Given the description of an element on the screen output the (x, y) to click on. 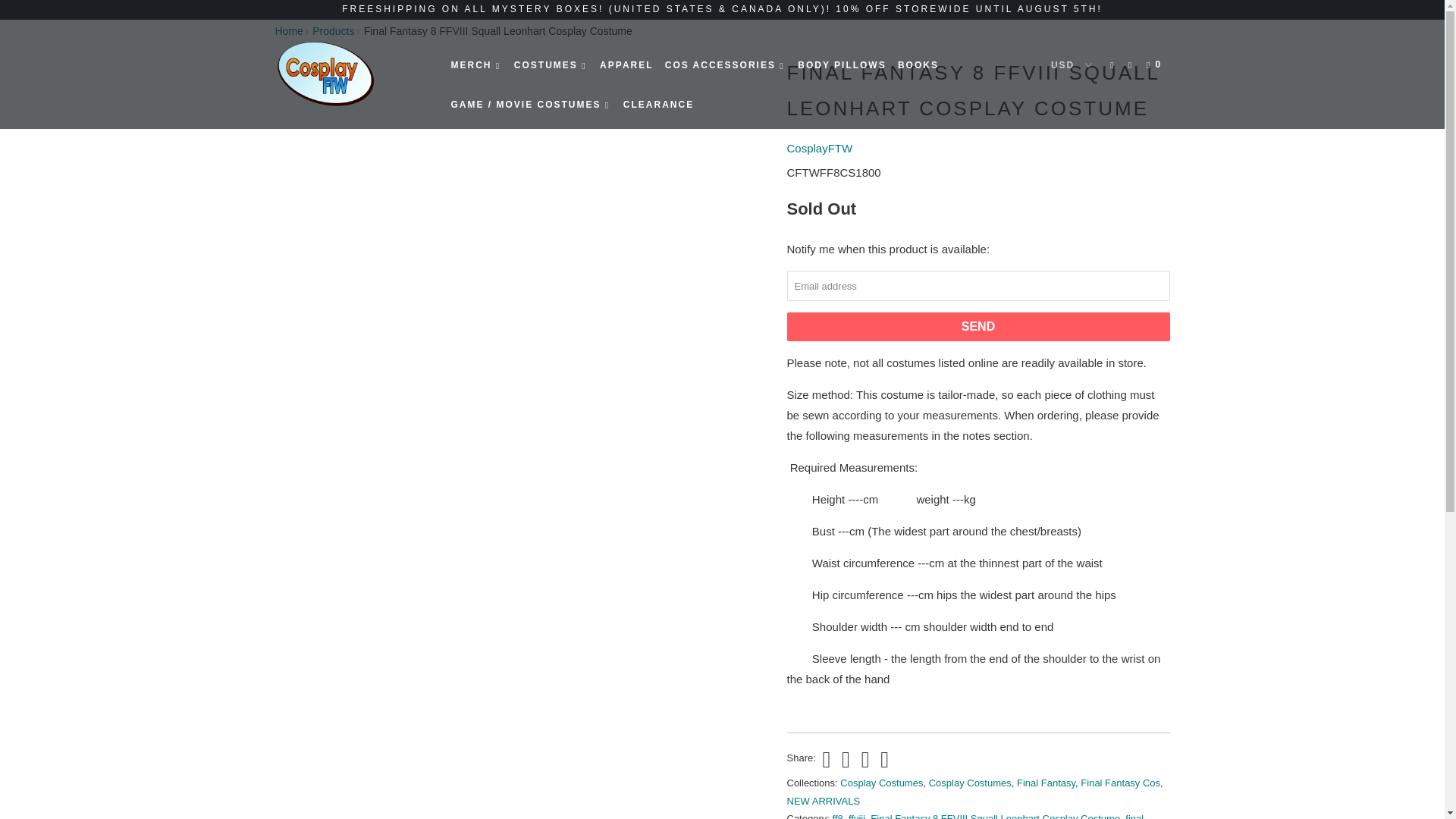
CosplayFTW (352, 73)
CosplayFTW (288, 30)
Send (978, 326)
Cosplay Costumes (881, 782)
Final Fantasy Cos (1120, 782)
NEW ARRIVALS (823, 800)
Final Fantasy (1045, 782)
Cosplay Costumes (969, 782)
CosplayFTW (820, 147)
Products (333, 30)
